Given the description of an element on the screen output the (x, y) to click on. 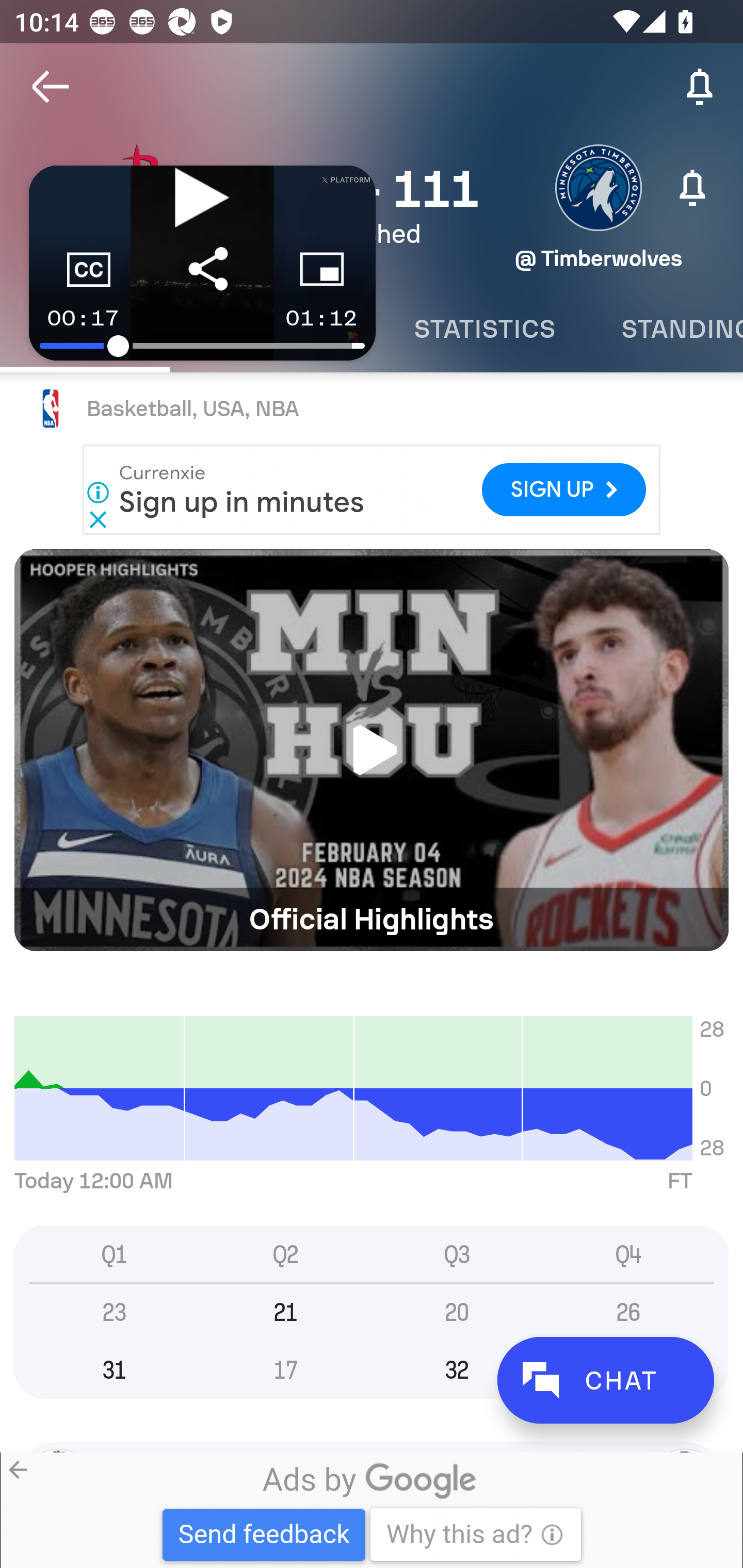
Navigate up (50, 86)
Statistics STATISTICS (484, 329)
Basketball, USA, NBA (371, 409)
Currenxie (162, 472)
SIGN UP (563, 489)
Sign up in minutes (241, 501)
CHAT (605, 1380)
